Given the description of an element on the screen output the (x, y) to click on. 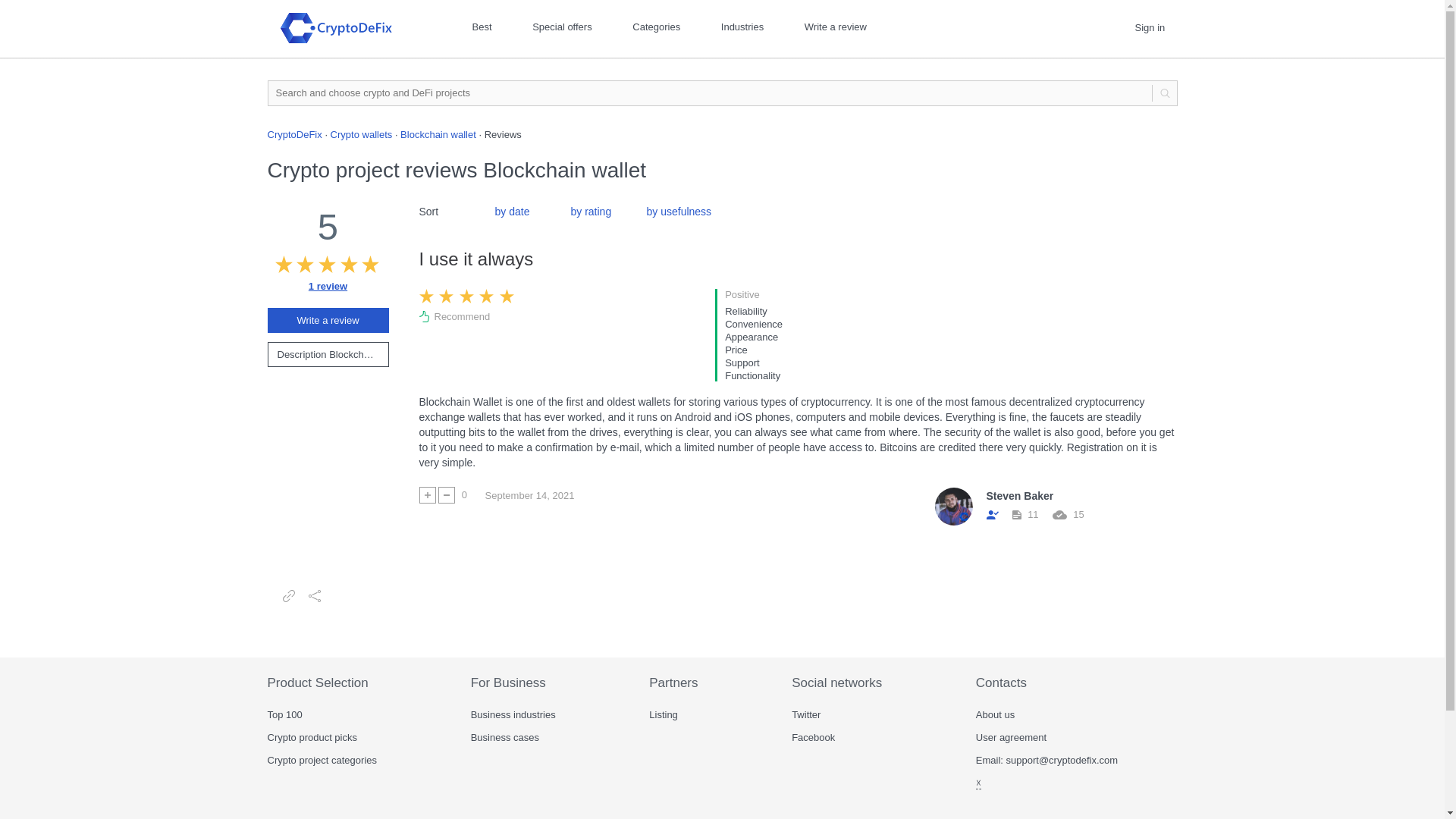
Special offers (562, 27)
Sign in (1147, 27)
Write a review (327, 319)
Best (481, 27)
by usefulness (678, 211)
Main page (344, 27)
Authentication (1147, 27)
1 review (327, 285)
Projects by categories (655, 27)
by date (512, 211)
CryptoDeFix (293, 134)
Write a review (835, 27)
Categories (655, 27)
September 14, 2021 (529, 495)
Crypto project reviews Blockchain wallet (327, 285)
